Given the description of an element on the screen output the (x, y) to click on. 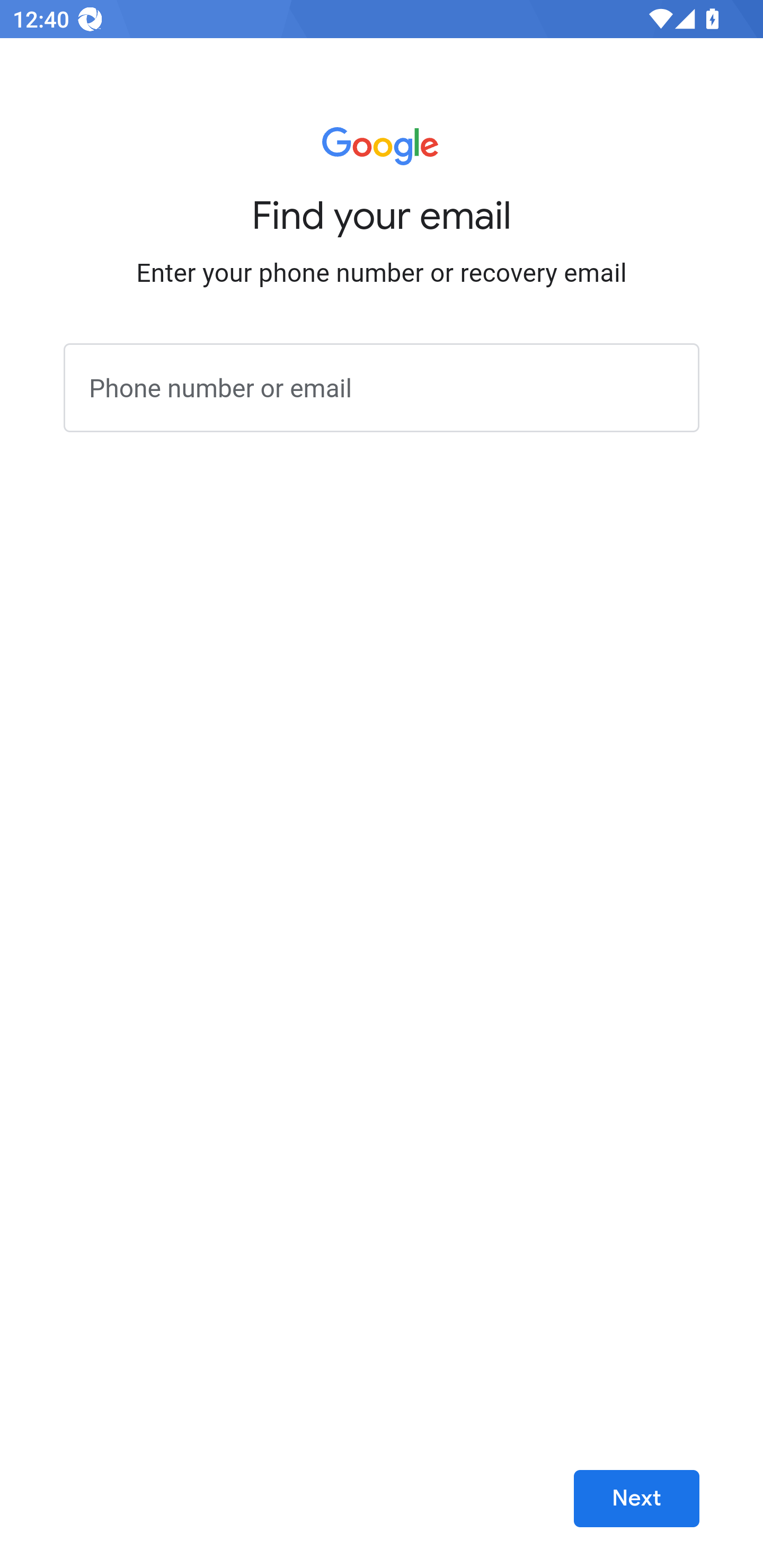
Next (635, 1498)
